Given the description of an element on the screen output the (x, y) to click on. 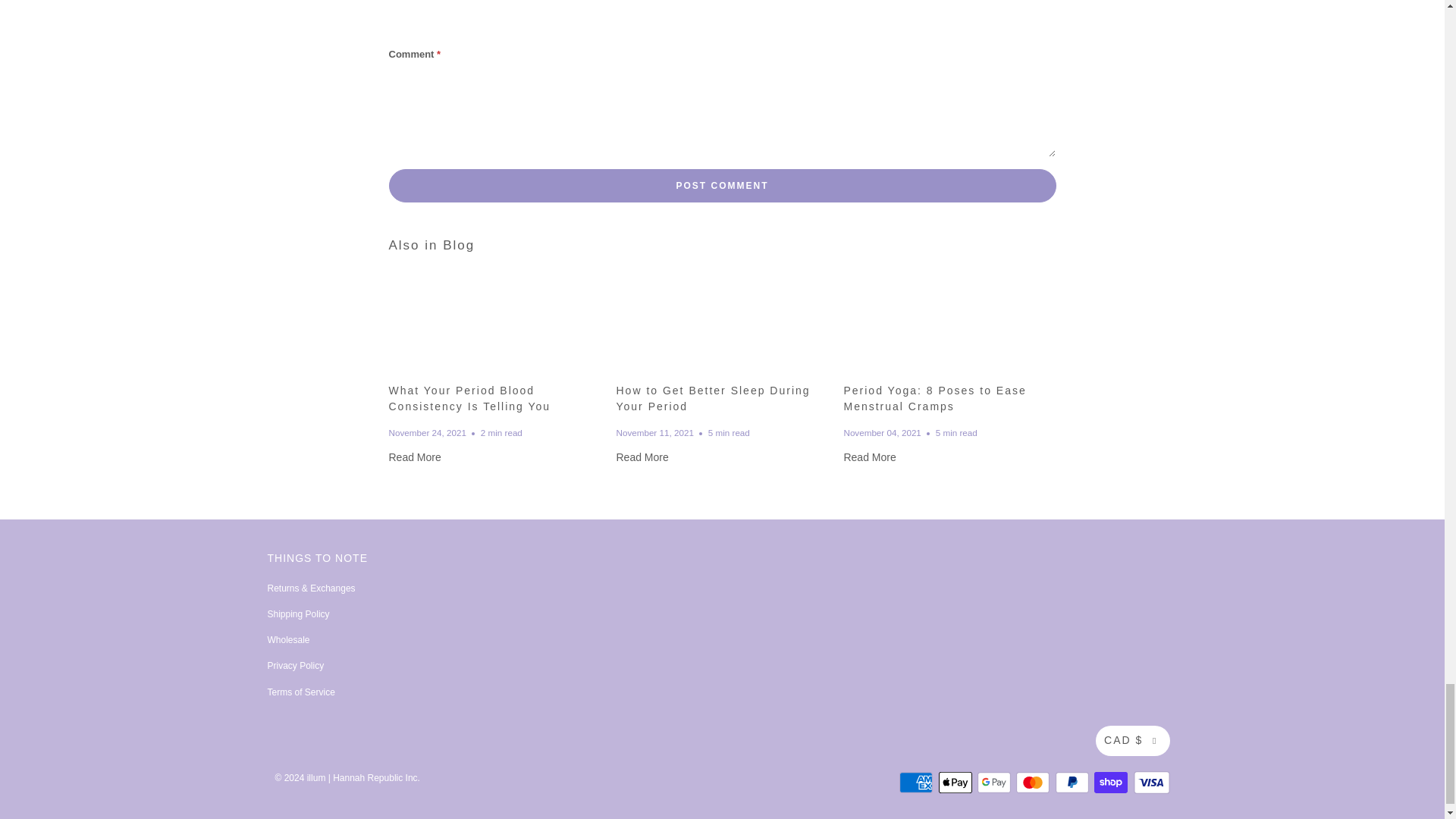
Google Pay (994, 782)
What Your Period Blood Consistency Is Telling You (414, 457)
What Your Period Blood Consistency Is Telling You (493, 322)
How to Get Better Sleep During Your Period (712, 398)
How to Get Better Sleep During Your Period (641, 457)
Post comment (721, 185)
Apple Pay (957, 782)
Visa (1150, 782)
PayPal (1073, 782)
Mastercard (1034, 782)
How to Get Better Sleep During Your Period (721, 322)
American Express (917, 782)
What Your Period Blood Consistency Is Telling You (469, 398)
Shop Pay (1112, 782)
